Given the description of an element on the screen output the (x, y) to click on. 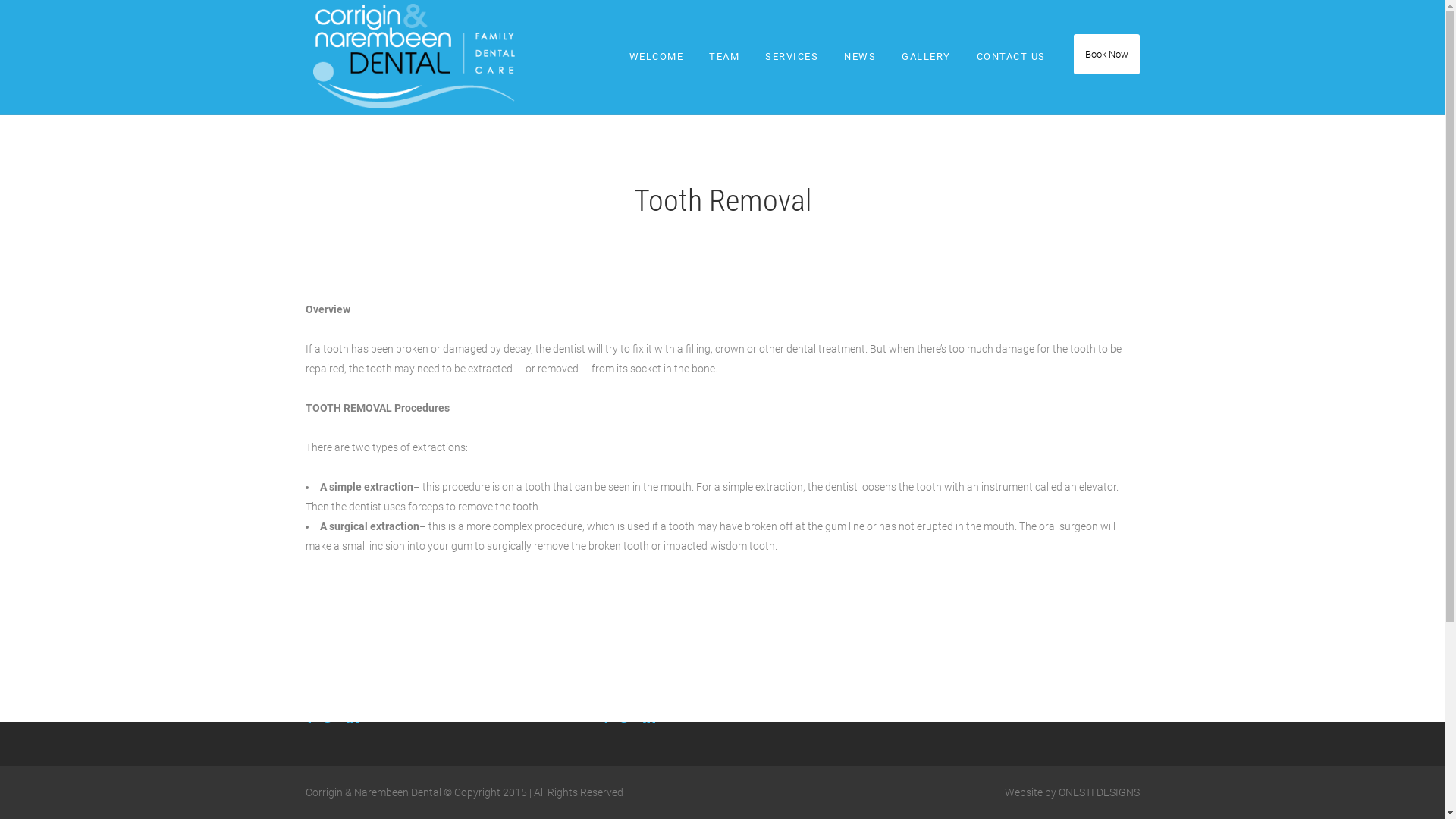
CONTACT US Element type: text (1010, 56)
NEWS Element type: text (859, 56)
GALLERY Element type: text (925, 56)
SERVICES Element type: text (791, 56)
TEAM Element type: text (724, 56)
WELCOME Element type: text (655, 56)
ONESTI DESIGNS Element type: text (1098, 792)
Book Now Element type: text (1106, 54)
